Given the description of an element on the screen output the (x, y) to click on. 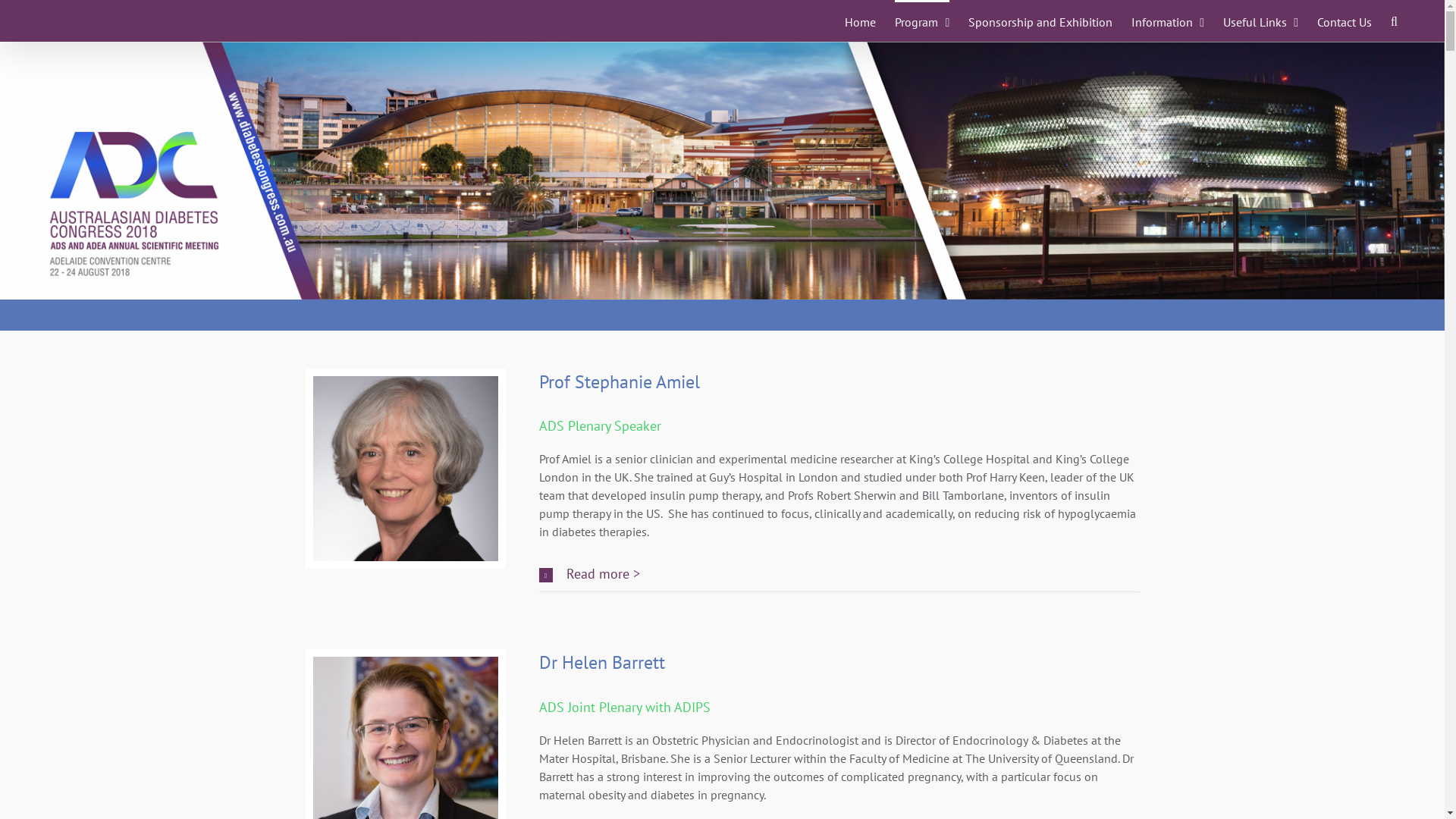
Program Element type: text (921, 20)
Read more > Element type: text (838, 573)
Information Element type: text (1167, 20)
Search Element type: hover (1396, 20)
Stephanie-Amiel Element type: hover (404, 468)
Useful Links Element type: text (1260, 20)
Sponsorship and Exhibition Element type: text (1040, 20)
Contact Us Element type: text (1344, 20)
Home Element type: text (859, 20)
ADC2018-Website-Page-Header-2000 Element type: hover (722, 170)
